Given the description of an element on the screen output the (x, y) to click on. 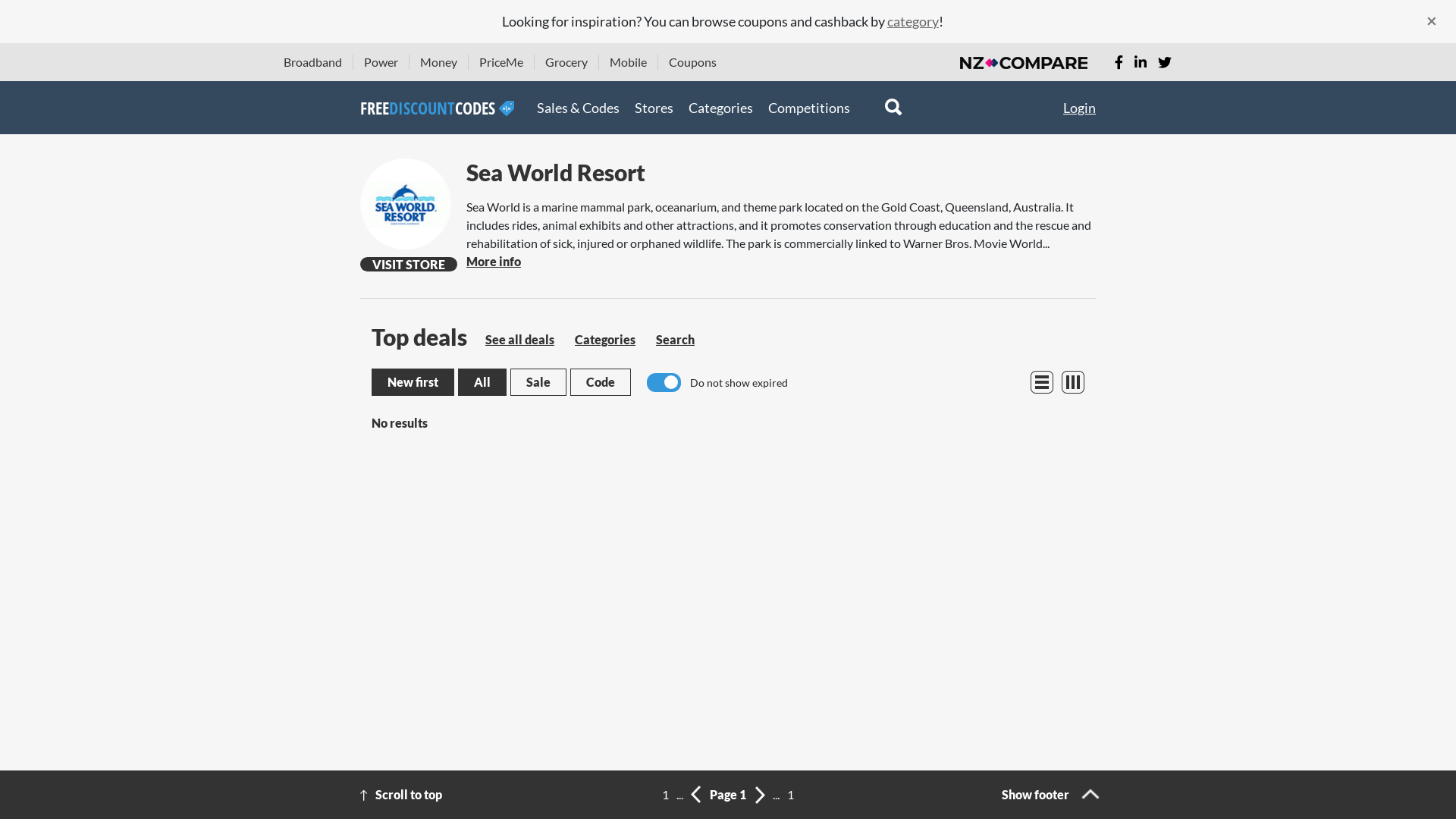
Show footer Element type: text (1048, 794)
Power Element type: text (381, 62)
... Element type: text (775, 794)
Sale Element type: text (538, 381)
VISIT STORE Element type: text (408, 264)
Coupons Element type: text (692, 62)
Scroll to top Element type: text (474, 794)
Login Element type: text (1079, 107)
Broadband Element type: text (312, 62)
Code Element type: text (600, 381)
FREEDISCOUNTCODES Element type: text (437, 107)
Competitions Element type: text (809, 107)
All Element type: text (482, 381)
PriceMe Element type: text (501, 62)
1 Element type: text (665, 794)
1 Element type: text (790, 794)
See all deals Element type: text (519, 339)
Categories Element type: text (604, 339)
Mobile Element type: text (627, 62)
Grocery Element type: text (566, 62)
Categories Element type: text (720, 107)
category Element type: text (912, 20)
Search Element type: text (674, 339)
Sales & Codes Element type: text (577, 107)
Money Element type: text (438, 62)
New first Element type: text (412, 381)
More info Element type: text (493, 261)
... Element type: text (679, 794)
Stores Element type: text (653, 107)
